Given the description of an element on the screen output the (x, y) to click on. 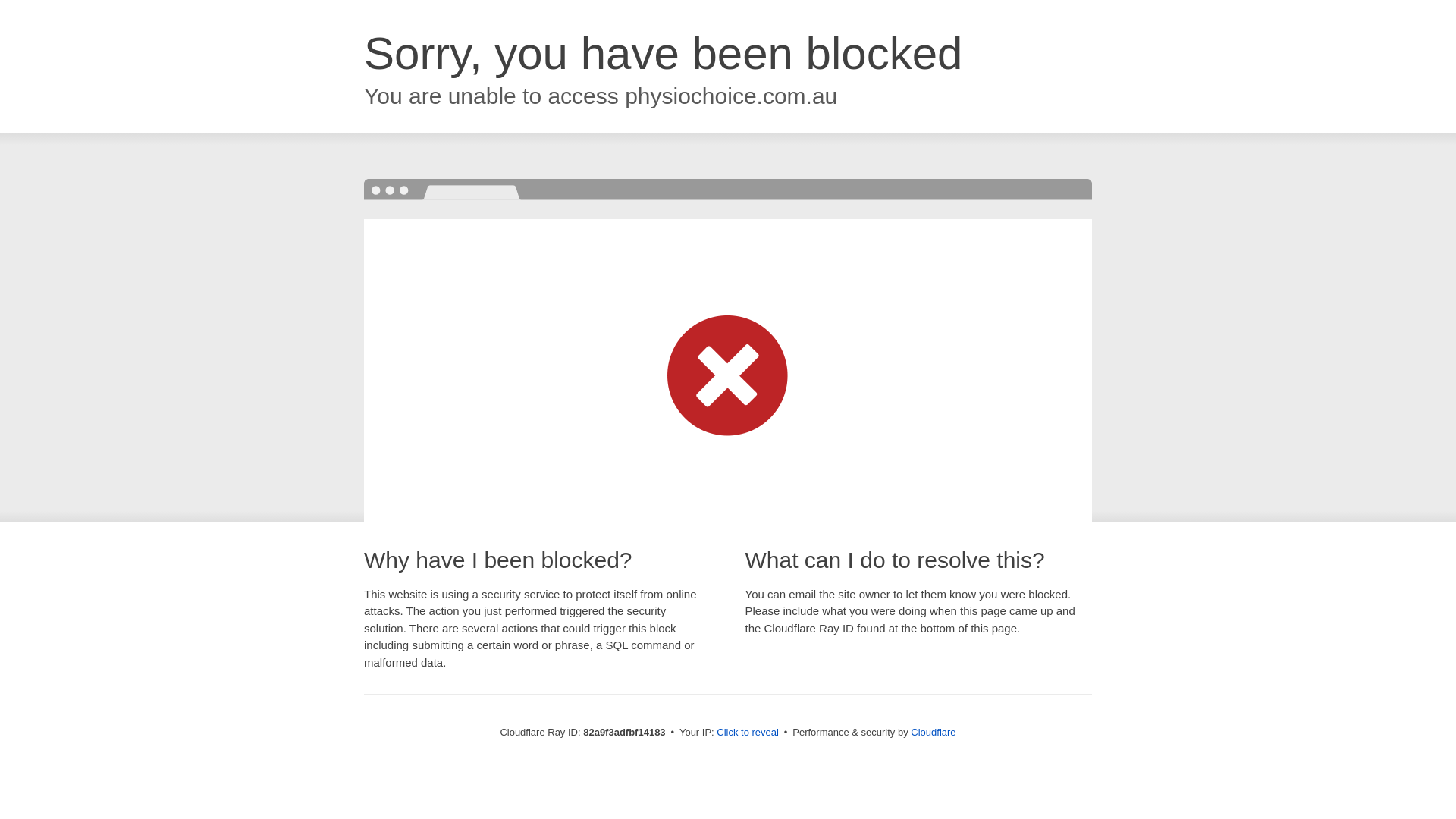
Click to reveal Element type: text (747, 732)
Cloudflare Element type: text (932, 731)
